Given the description of an element on the screen output the (x, y) to click on. 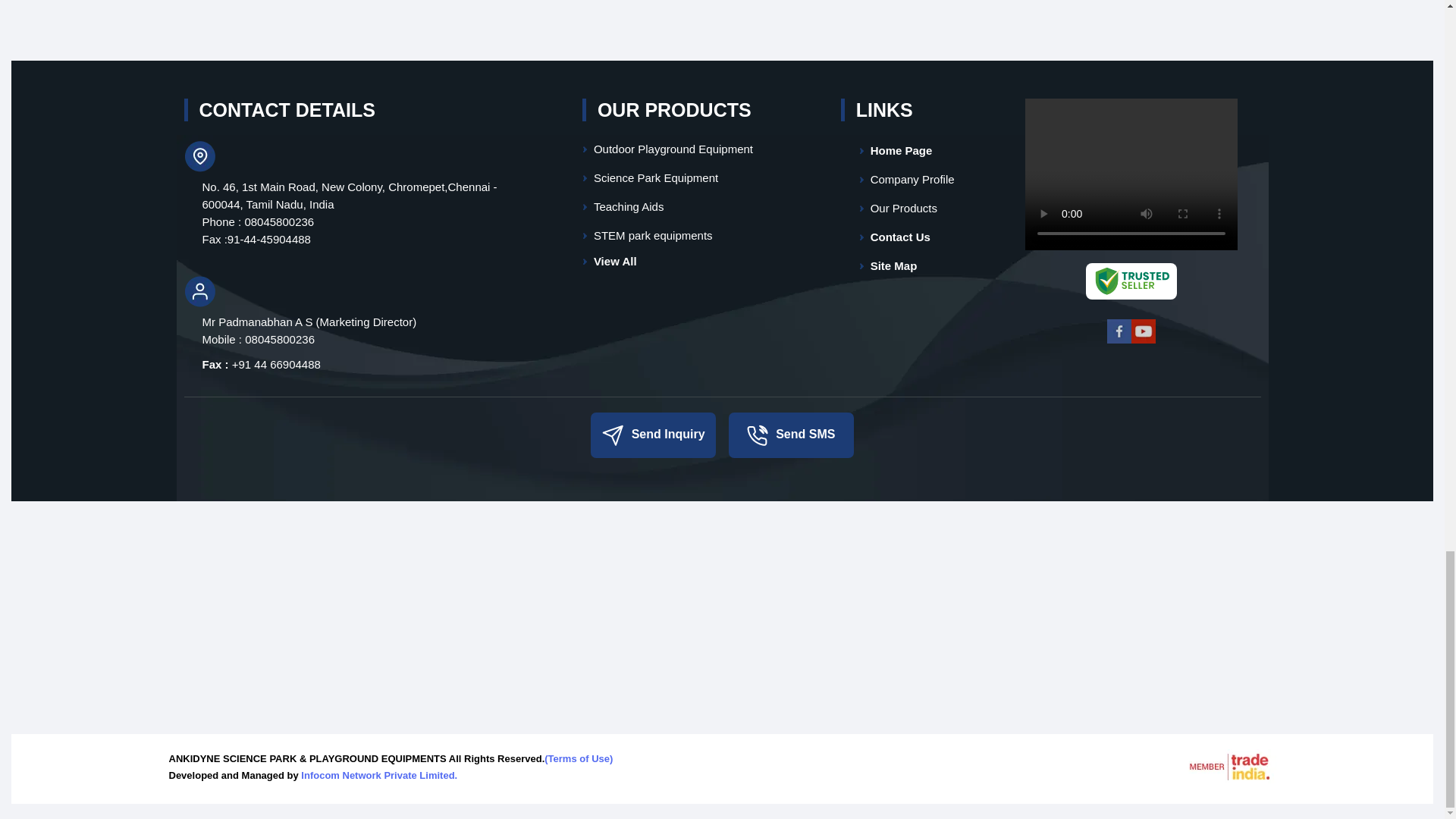
Facebook (1118, 340)
You Tube (1143, 340)
